Given the description of an element on the screen output the (x, y) to click on. 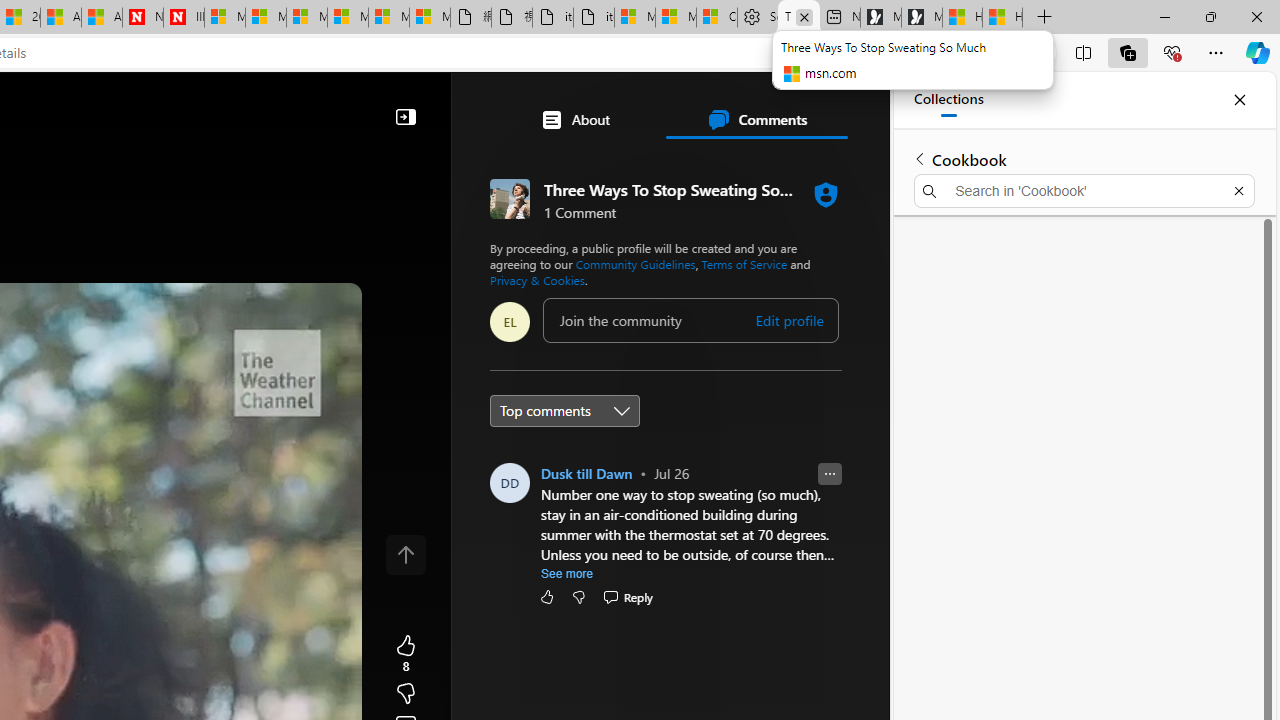
Comments (756, 119)
oceanbluemarine (636, 439)
Consumer Health Data Privacy Policy (717, 17)
comment-box (690, 320)
8 Like (406, 653)
